Given the description of an element on the screen output the (x, y) to click on. 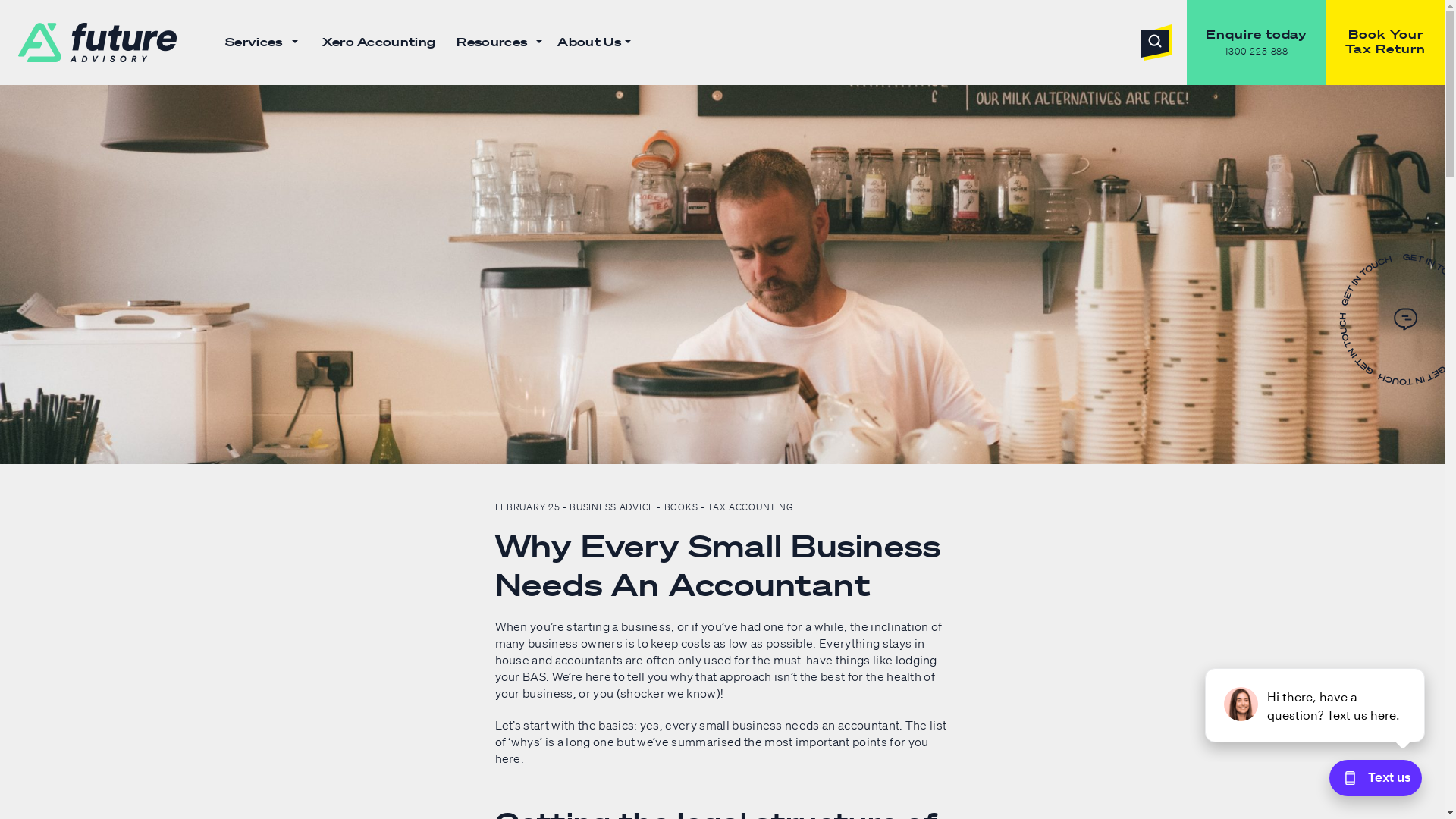
Services Element type: text (261, 41)
Resources Element type: text (498, 41)
Book Your
Tax Return Element type: text (1385, 41)
Search Element type: text (1156, 42)
About Us Element type: text (593, 41)
Xero Accounting Element type: text (379, 41)
podium webchat widget prompt Element type: hover (1315, 705)
Enquire today Element type: text (1256, 34)
1300 225 888 Element type: text (1256, 51)
